Given the description of an element on the screen output the (x, y) to click on. 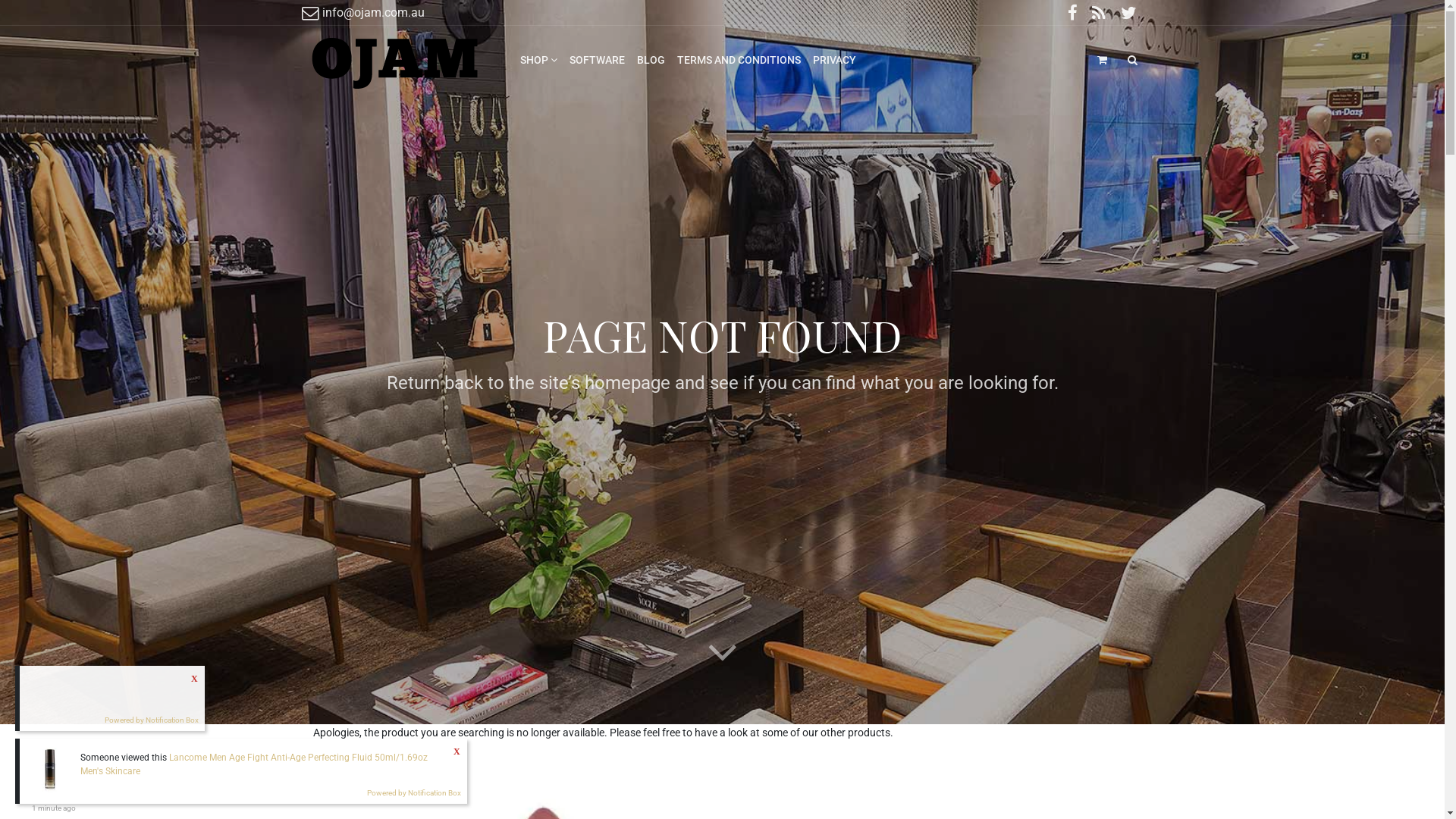
SOFTWARE Element type: text (596, 59)
Facebook Element type: hover (1071, 13)
OJAM Element type: hover (395, 59)
Rss Element type: hover (1098, 13)
BLOG Element type: text (650, 59)
TERMS AND CONDITIONS Element type: text (738, 59)
Powered by Notification Box Element type: text (414, 792)
Twitter Element type: hover (1128, 13)
X Element type: text (457, 750)
Powered by Notification Box Element type: text (151, 719)
SHOP Element type: text (538, 59)
X Element type: text (194, 677)
PRIVACY Element type: text (834, 59)
